Given the description of an element on the screen output the (x, y) to click on. 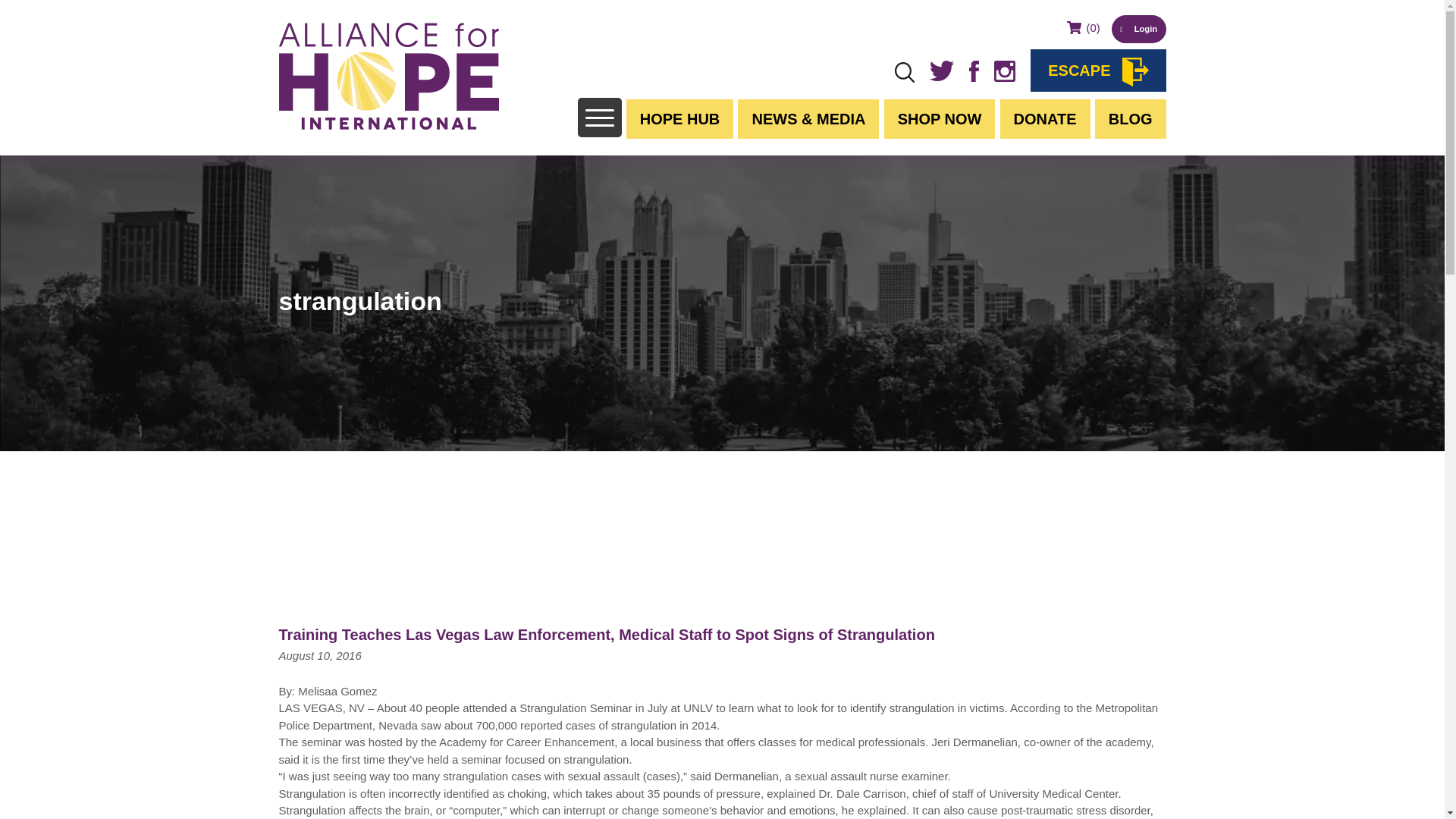
SHOP NOW (939, 118)
Social icon (973, 70)
ESCAPE (1098, 70)
Social icon (941, 70)
Search (81, 18)
Alliance for Hope International (389, 75)
Login (1139, 29)
HOPE HUB (679, 118)
Social icon (1004, 70)
View your shopping cart (1083, 27)
